Given the description of an element on the screen output the (x, y) to click on. 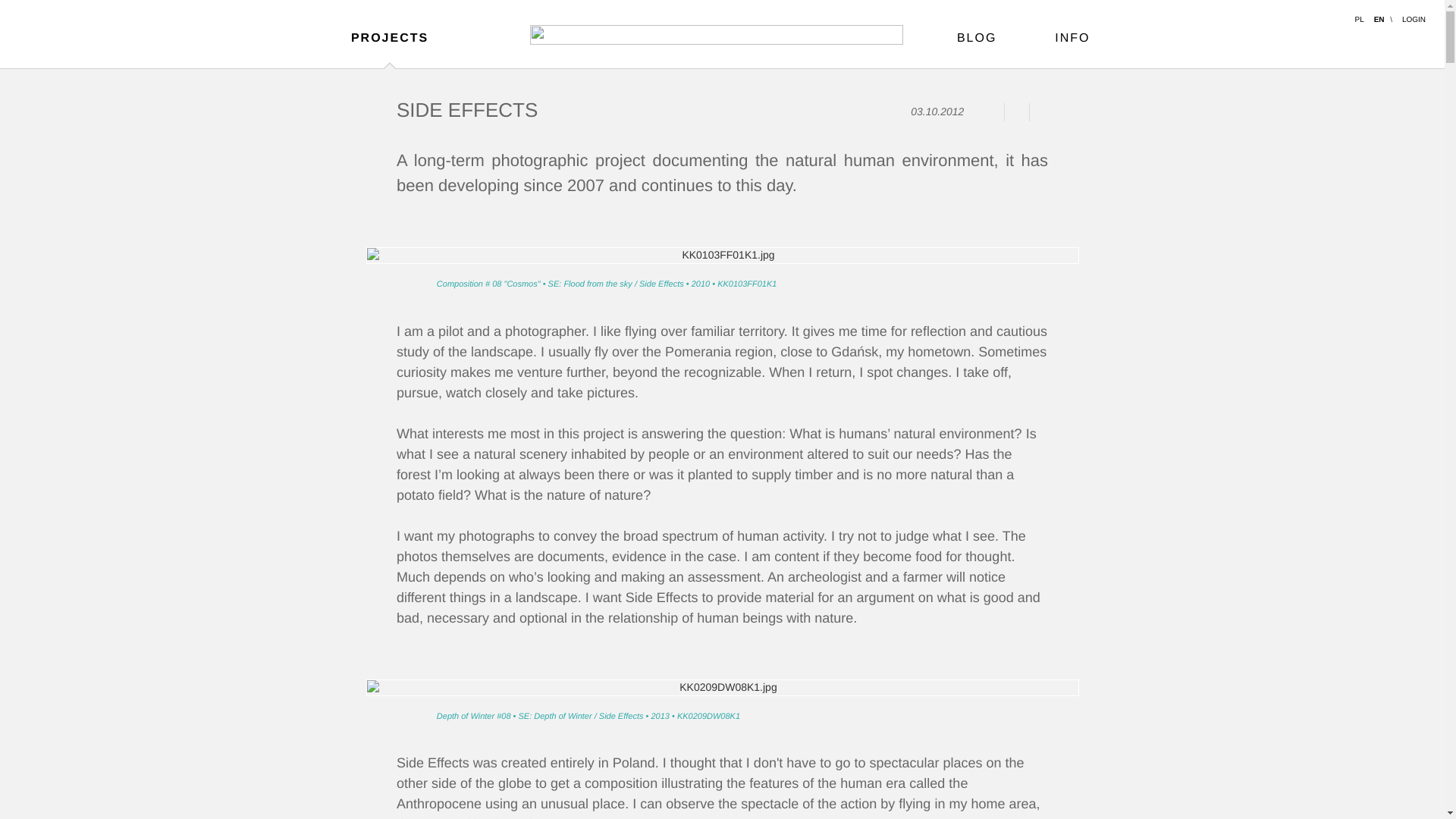
Share on twitter (1016, 112)
Download project (1041, 112)
LOGIN (1413, 20)
BLOG (948, 38)
INFO (1042, 38)
Share on facebook (991, 112)
EN (1379, 20)
PROJECTS (388, 38)
PL (1359, 20)
